Given the description of an element on the screen output the (x, y) to click on. 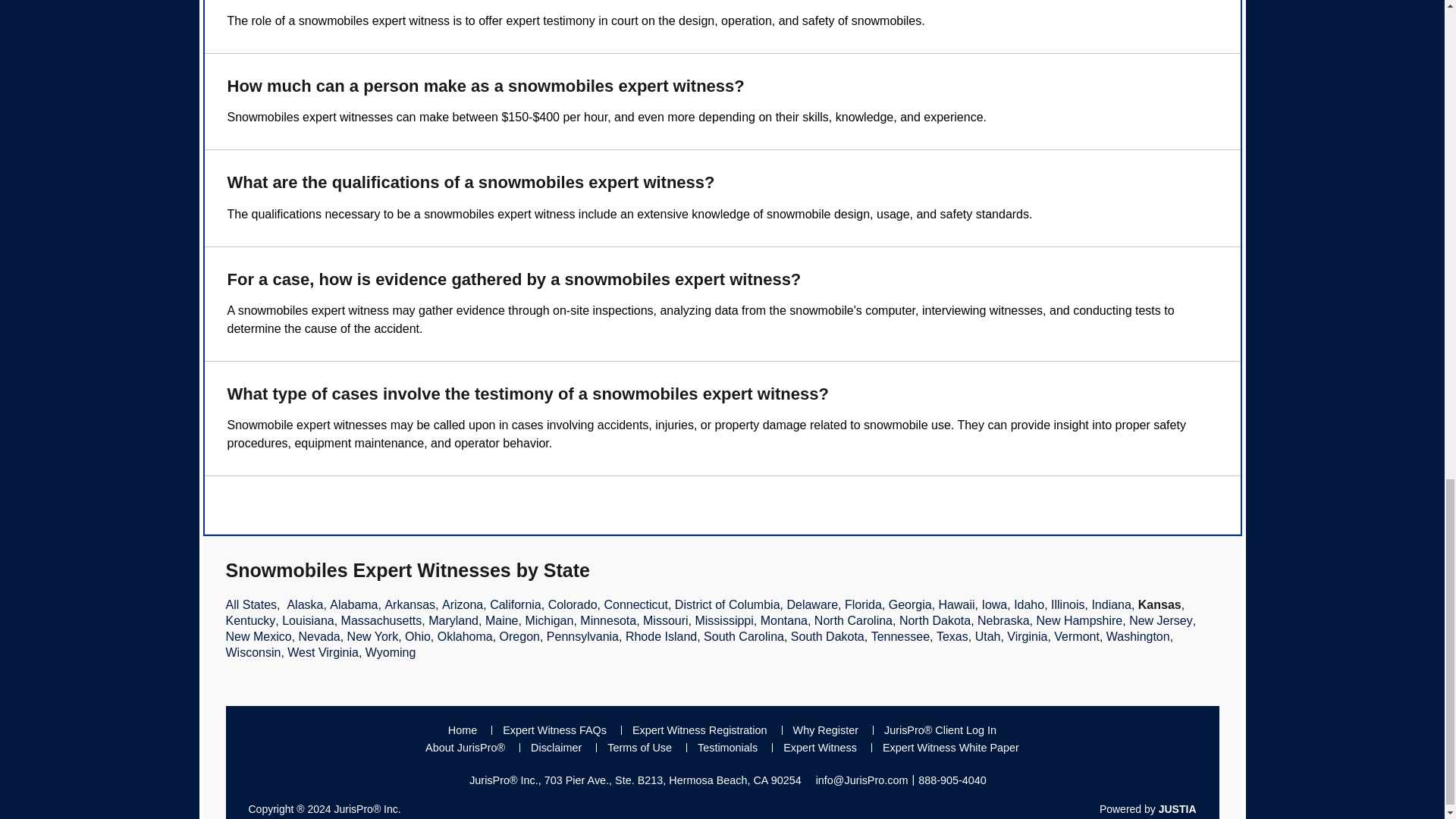
Alabama (353, 604)
Indiana (1110, 604)
District of Columbia (727, 604)
Illinois (1067, 604)
Iowa (994, 604)
Idaho (1028, 604)
Arkansas (409, 604)
Colorado (572, 604)
Alaska (304, 604)
Connecticut (636, 604)
Georgia (909, 604)
Delaware (812, 604)
California (515, 604)
Florida (863, 604)
Kentucky (250, 620)
